Given the description of an element on the screen output the (x, y) to click on. 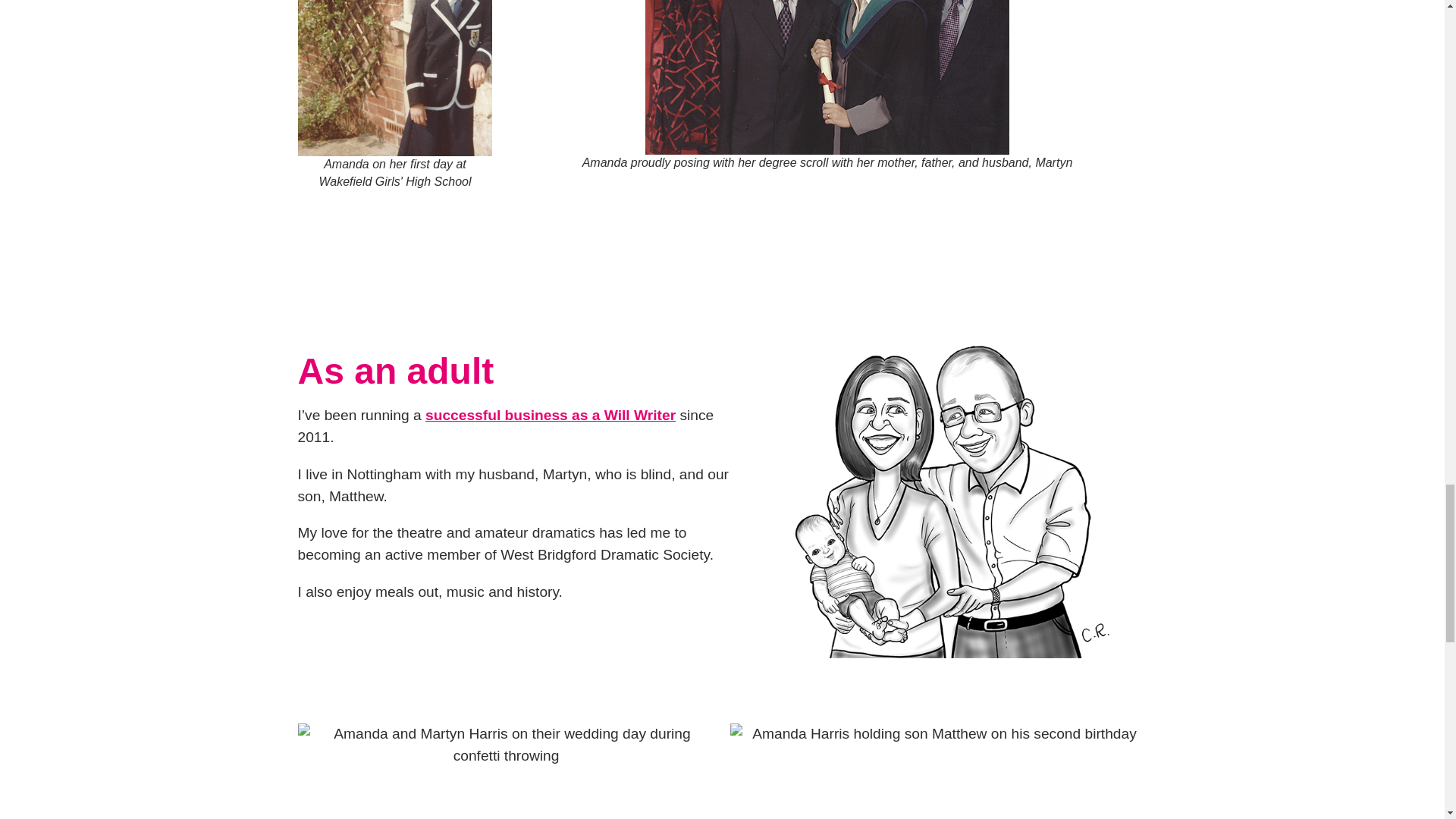
Find out about Amanda's Will Writing business (550, 415)
successful business as a Will Writer (550, 415)
